Given the description of an element on the screen output the (x, y) to click on. 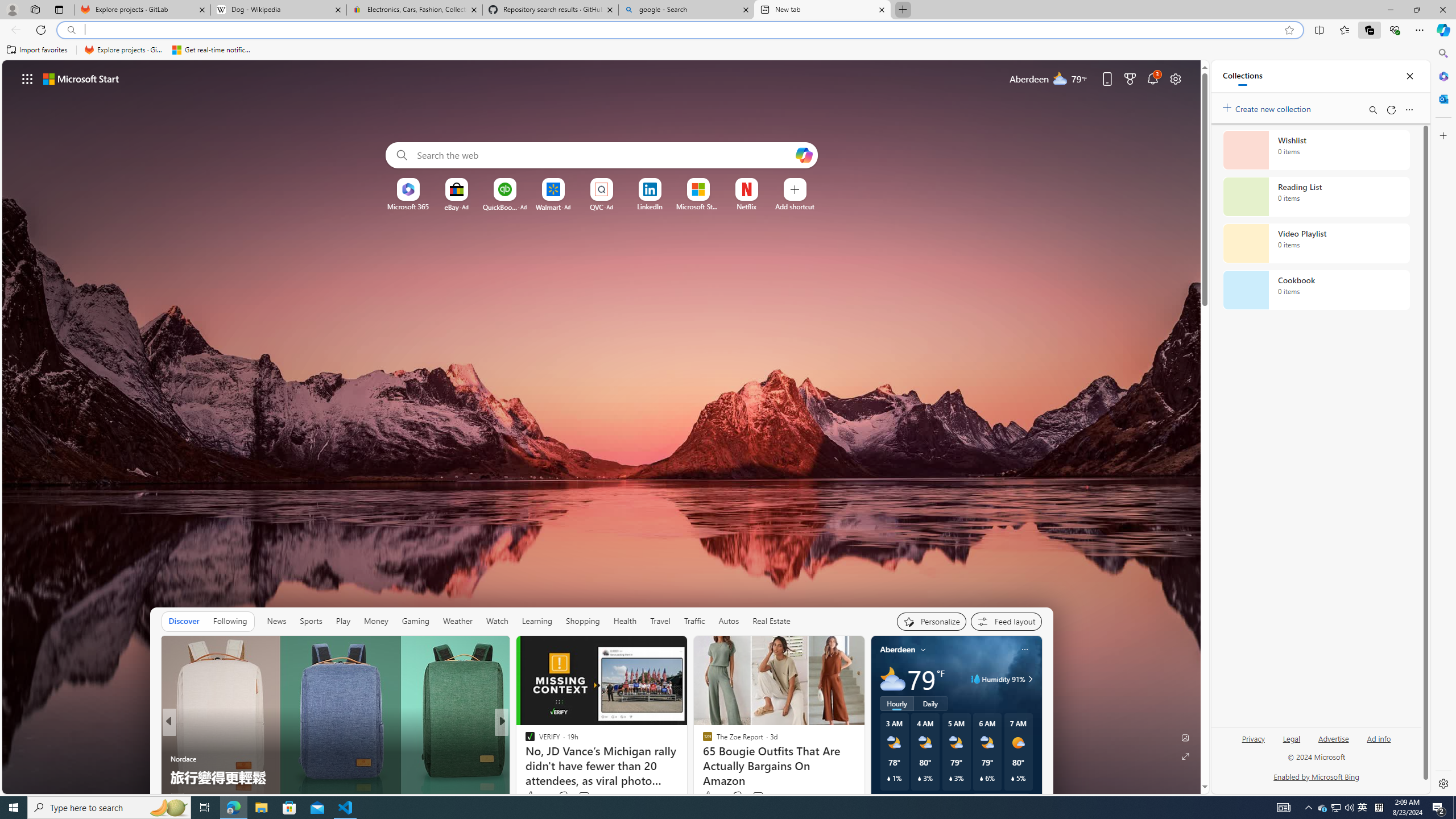
Simply Recipes (524, 740)
Class: icon-img (1024, 649)
LinkedIn (649, 206)
13 Worst Car Tips Mechanics Have Ever Heard (684, 777)
35 Like (530, 796)
Tom's Guide (524, 740)
Daily (929, 703)
View comments 142 Comment (583, 796)
Play (342, 621)
611 Like (532, 796)
Watch (497, 621)
